Given the description of an element on the screen output the (x, y) to click on. 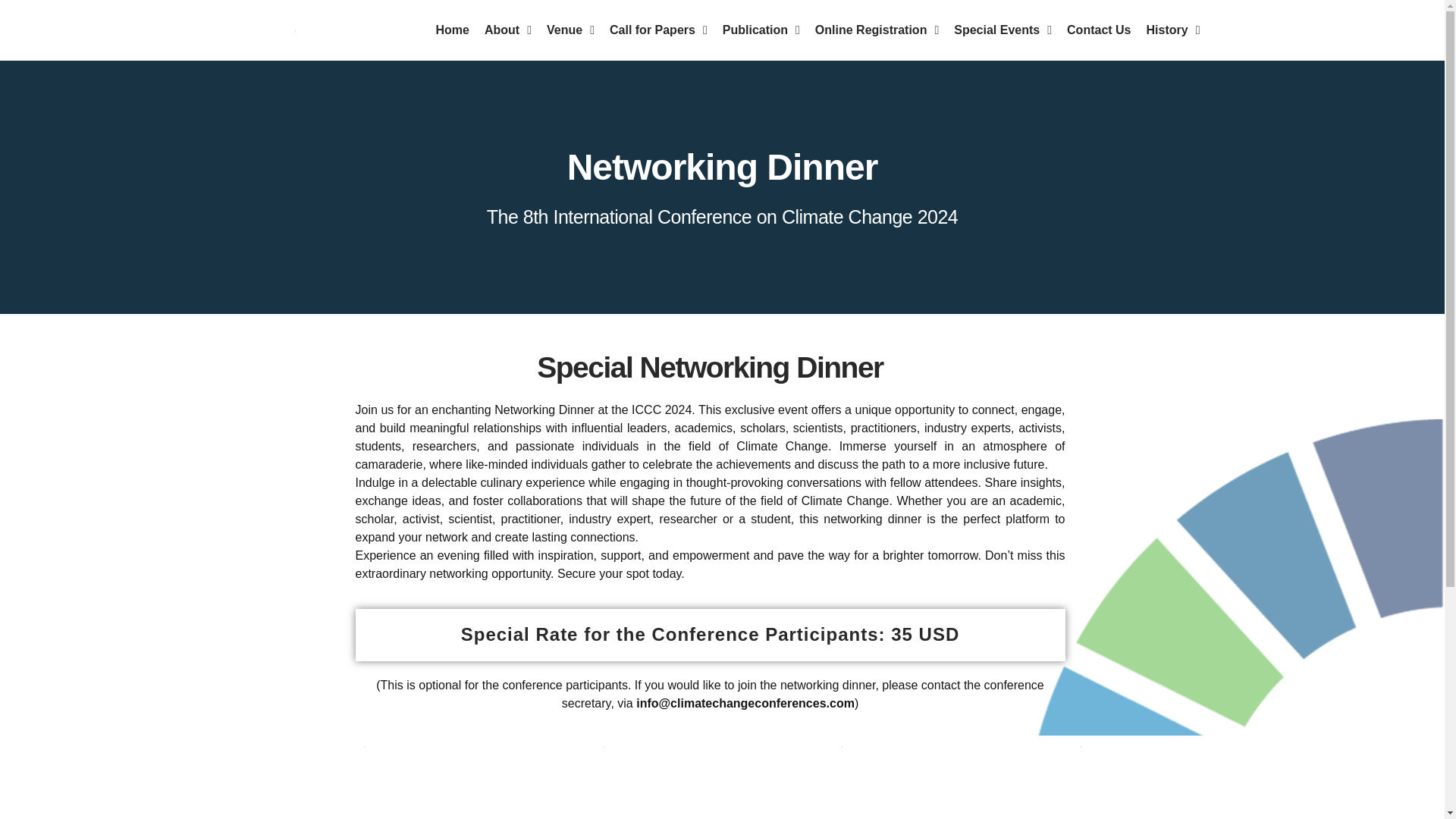
Online Registration (877, 30)
Publication (761, 30)
Venue (570, 30)
Home (452, 30)
Call for Papers (658, 30)
About (507, 30)
